Given the description of an element on the screen output the (x, y) to click on. 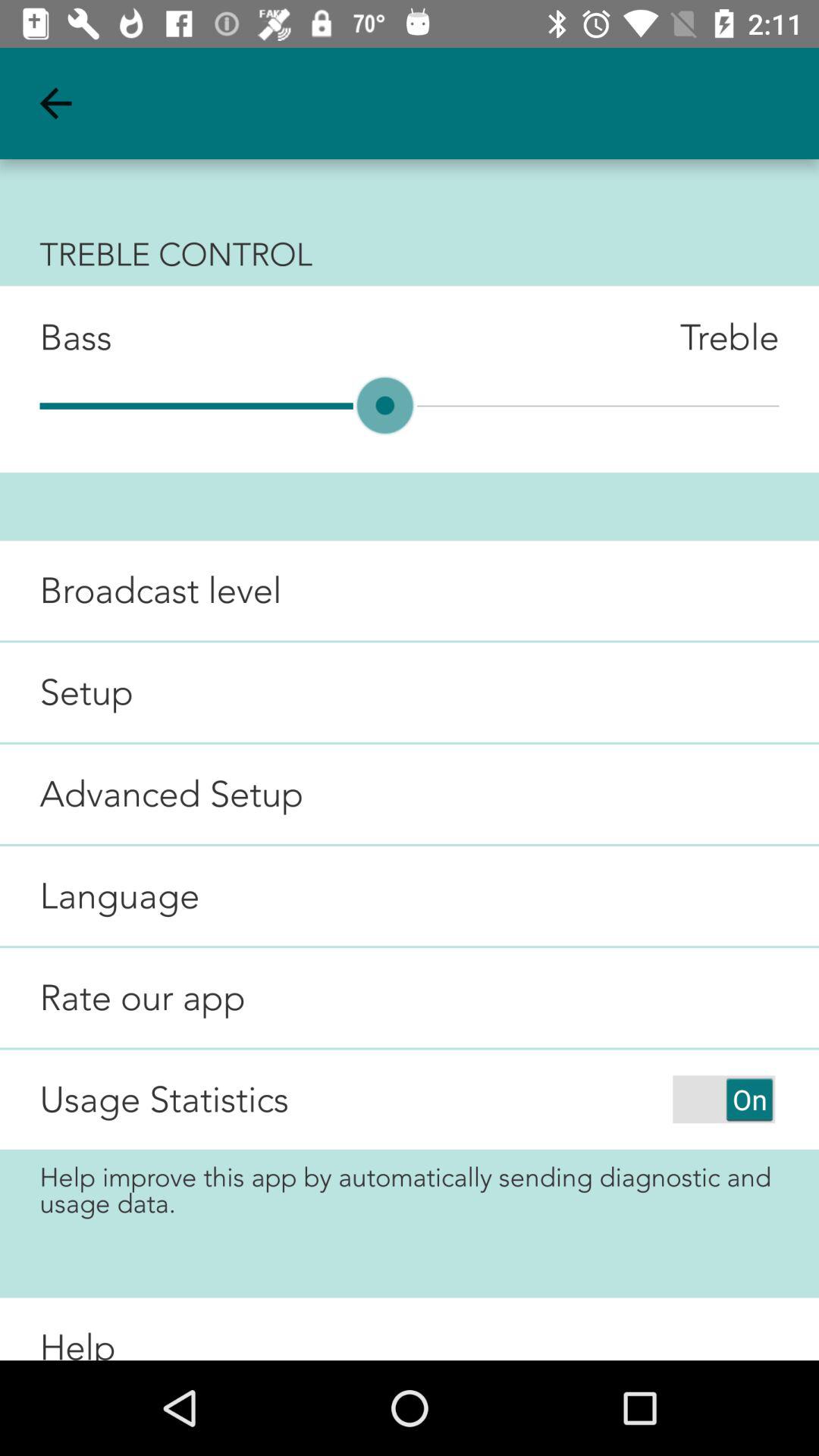
launch advanced setup (151, 794)
